Given the description of an element on the screen output the (x, y) to click on. 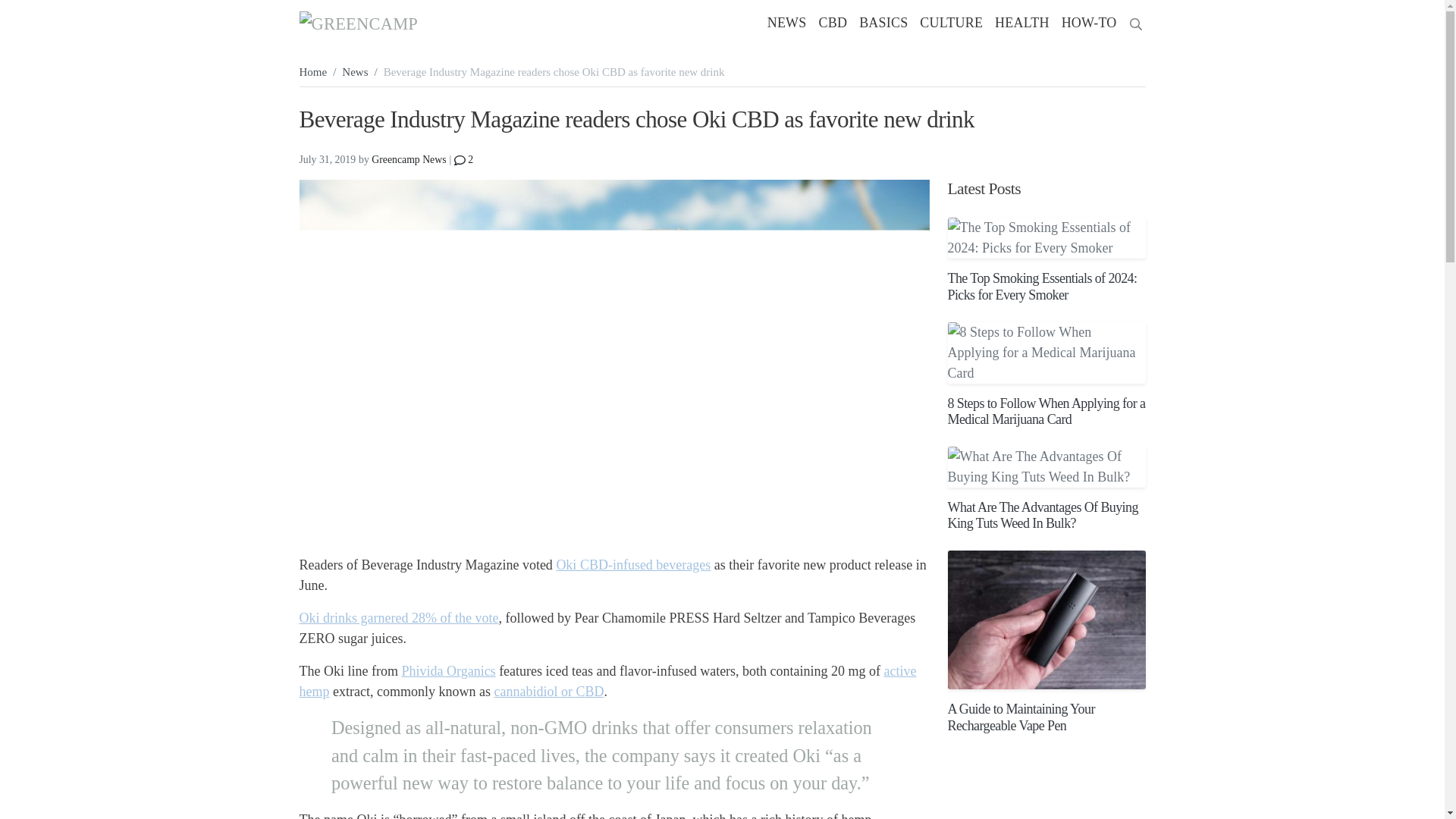
Greencamp News (408, 159)
CBD (832, 22)
BASICS (883, 22)
Oki CBD-infused beverages (633, 564)
cannabidiol or CBD (548, 691)
CULTURE (951, 22)
Phivida Organics (448, 670)
HEALTH (1021, 22)
2 (463, 159)
8 Steps to Follow When Applying for a Medical Marijuana Card (1046, 353)
